Given the description of an element on the screen output the (x, y) to click on. 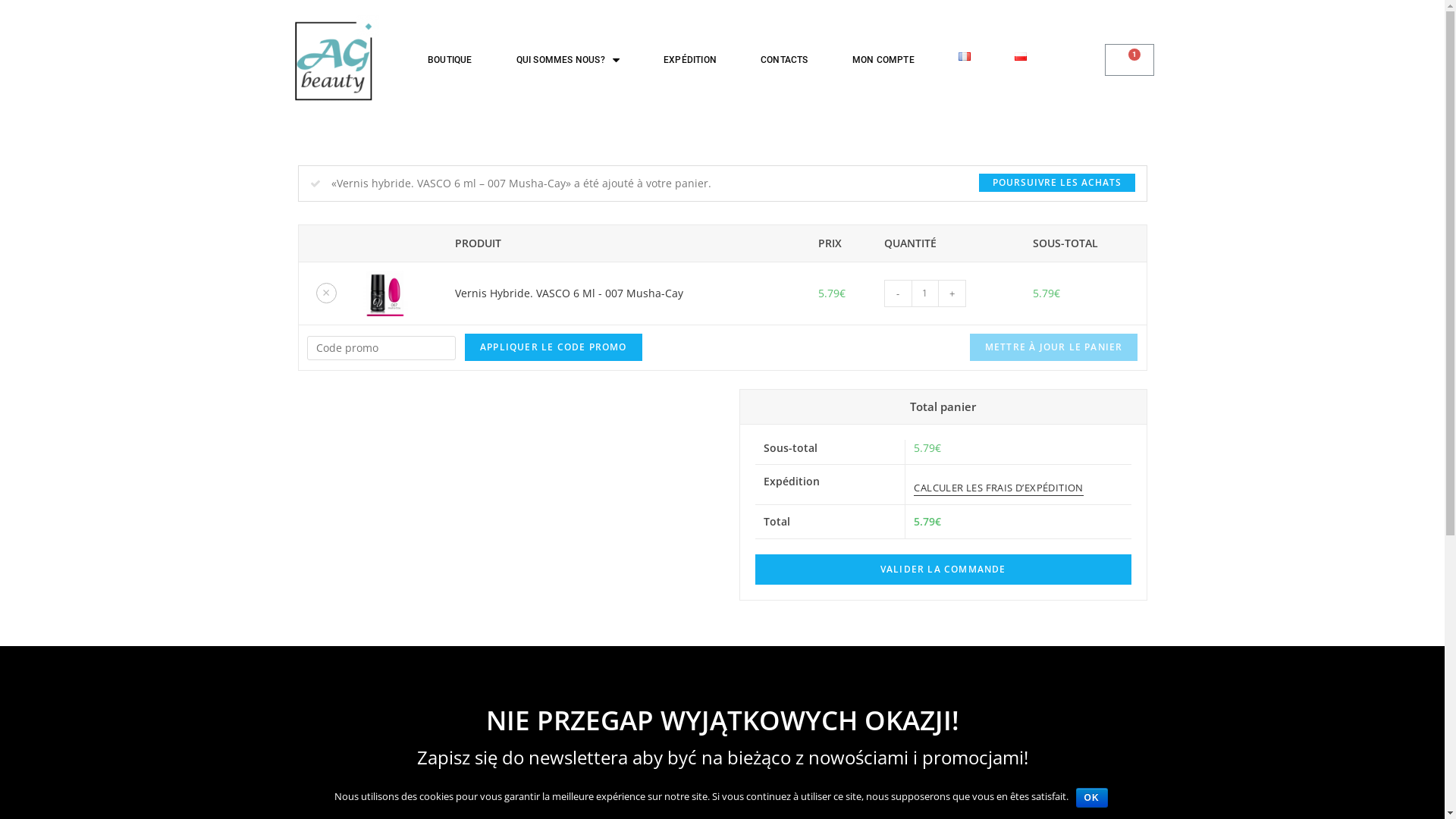
VALIDER LA COMMANDE Element type: text (943, 569)
Polski Element type: hover (1020, 56)
APPLIQUER LE CODE PROMO Element type: text (553, 346)
MON COMPTE Element type: text (883, 59)
OK Element type: text (1091, 797)
+ Element type: text (952, 293)
QUI SOMMES NOUS? Element type: text (567, 59)
CONTACTS Element type: text (784, 59)
BOUTIQUE Element type: text (449, 59)
POURSUIVRE LES ACHATS Element type: text (1056, 182)
- Element type: text (897, 293)
Vernis Hybride. VASCO 6 Ml - 007 Musha-Cay Element type: text (569, 292)
